Given the description of an element on the screen output the (x, y) to click on. 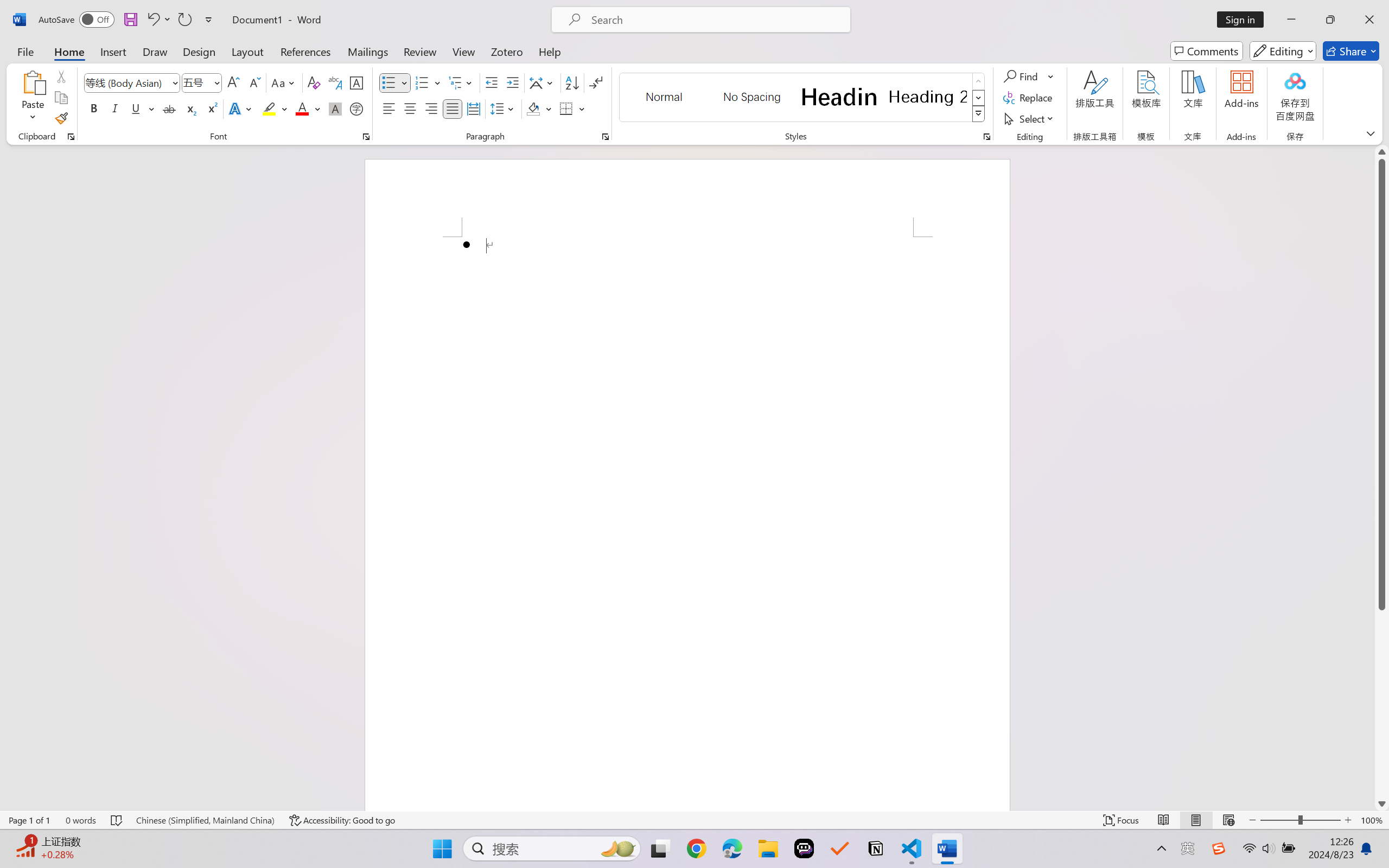
Line up (1382, 151)
